Given the description of an element on the screen output the (x, y) to click on. 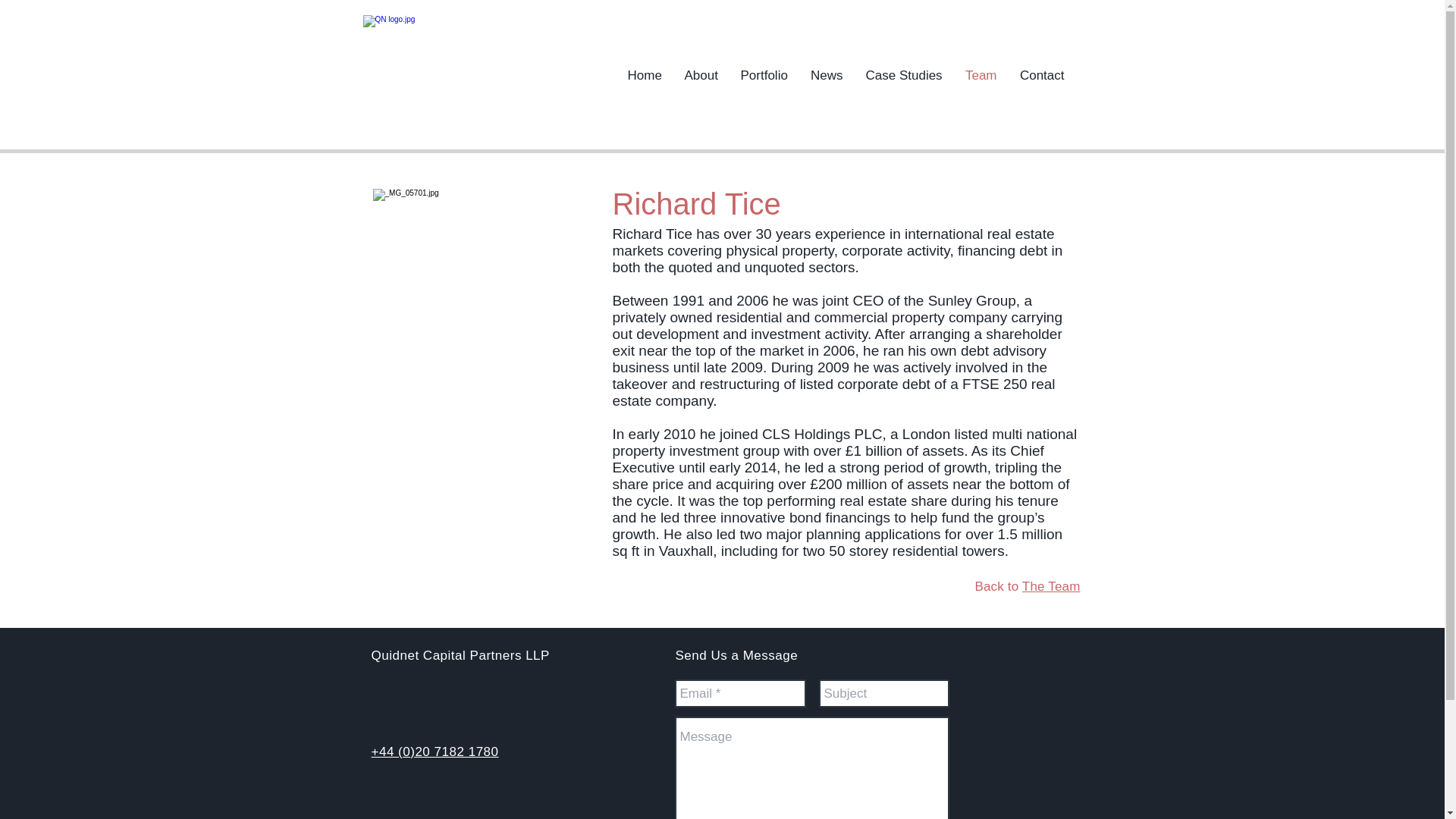
Home (643, 75)
Portfolio (764, 75)
News (826, 75)
Quidnet Capital Partners LLP (460, 655)
About (700, 75)
Contact (1042, 75)
Case Studies (903, 75)
Team (981, 75)
The Team (1051, 586)
